Given the description of an element on the screen output the (x, y) to click on. 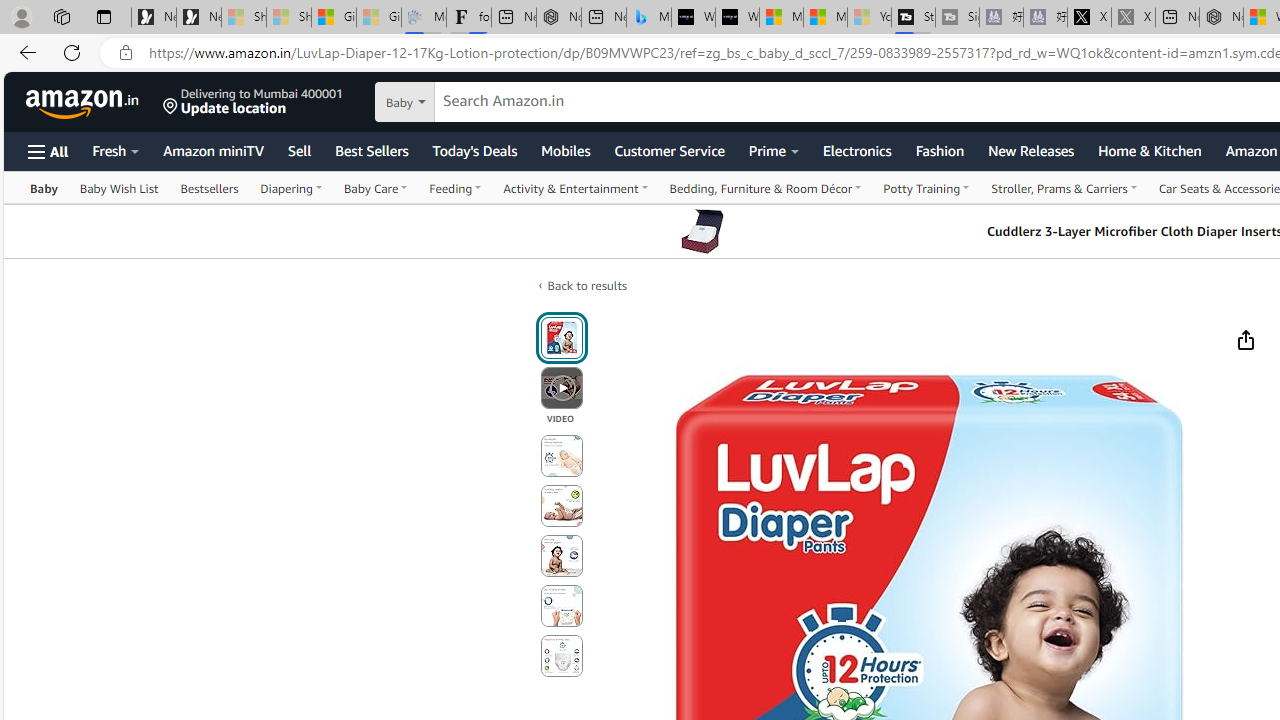
Sell (299, 150)
Delivering to Mumbai 400001 Update location (253, 101)
Amazon miniTV (213, 150)
Mobiles (565, 150)
Amazon.in (84, 101)
